Given the description of an element on the screen output the (x, y) to click on. 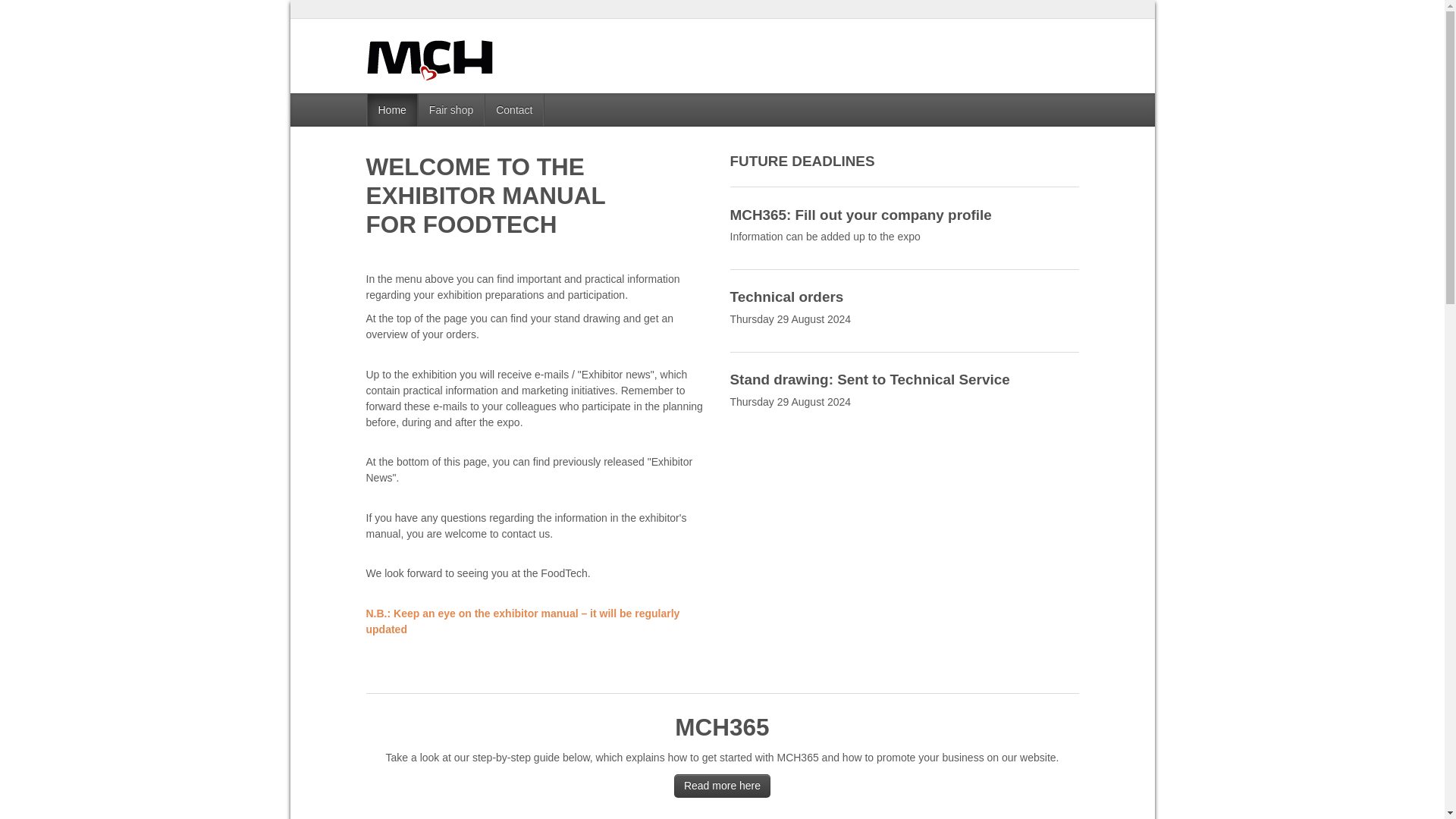
Home (391, 110)
Read more here (722, 785)
Contact (513, 110)
Fair shop (450, 110)
